Given the description of an element on the screen output the (x, y) to click on. 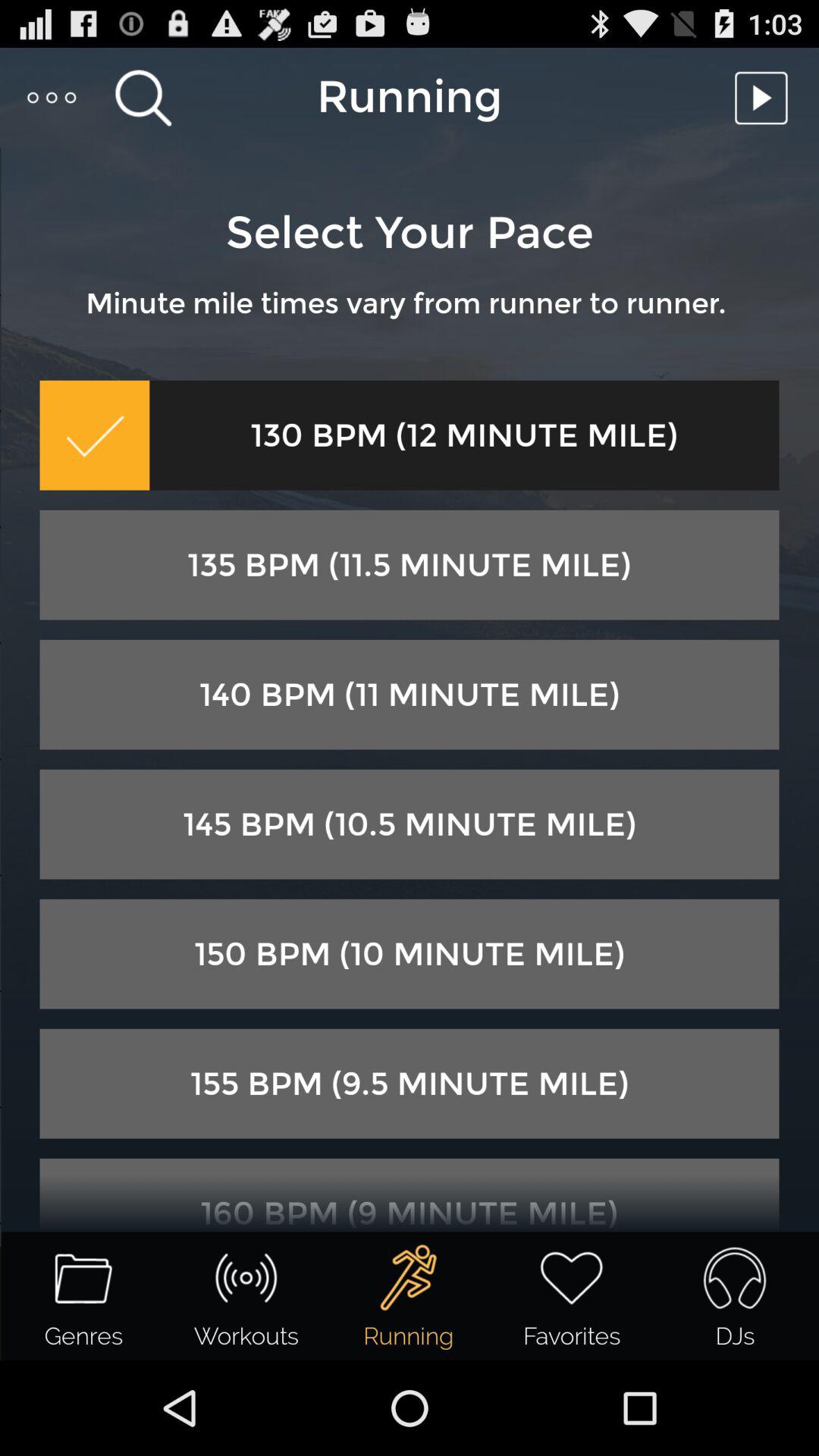
play option (765, 97)
